Given the description of an element on the screen output the (x, y) to click on. 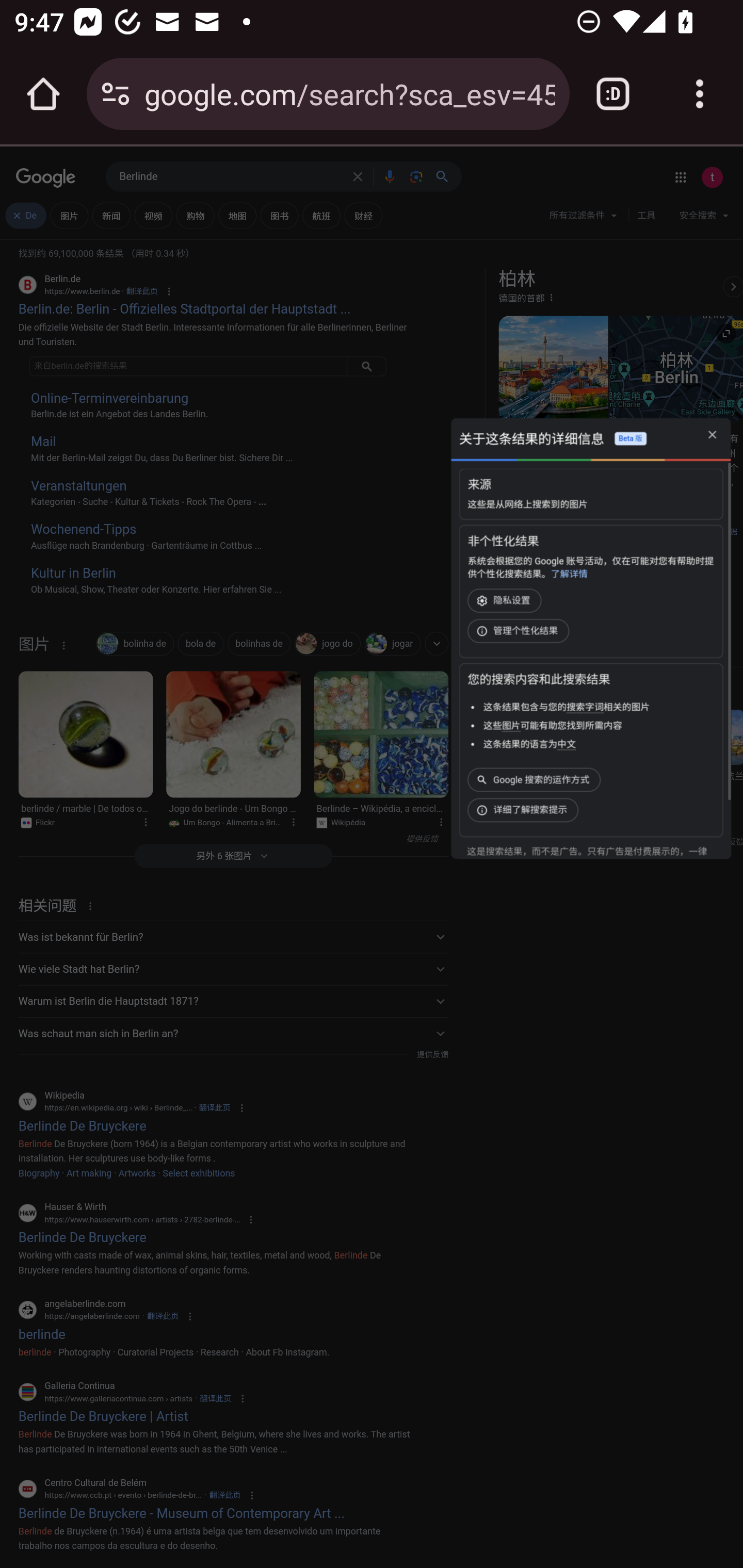
Open the home page (43, 93)
Connection is secure (115, 93)
Switch or close tabs (612, 93)
Customize and control Google Chrome (699, 93)
关闭“关于这条结果” (711, 435)
了解详情 (568, 573)
隐私设置 (506, 600)
管理个性化结果 (520, 630)
这条结果包含与您的搜索字词相关的图片 (566, 706)
这些图片可能有助您找到所需内容 (552, 725)
这条结果的语言为中文 (529, 743)
Google 搜索的运作方式 (535, 778)
详细了解搜索提示 (524, 809)
